Given the description of an element on the screen output the (x, y) to click on. 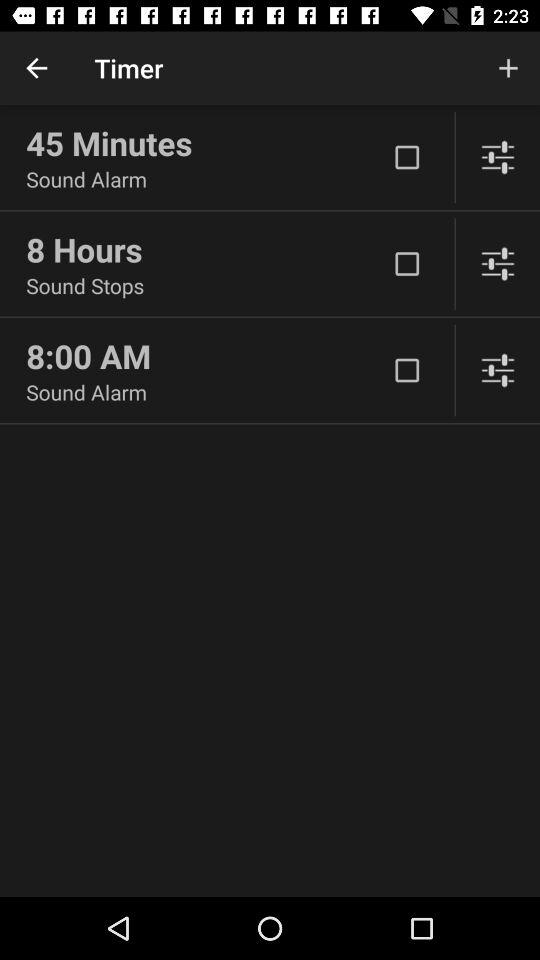
flip to the 45 minutes icon (206, 143)
